Given the description of an element on the screen output the (x, y) to click on. 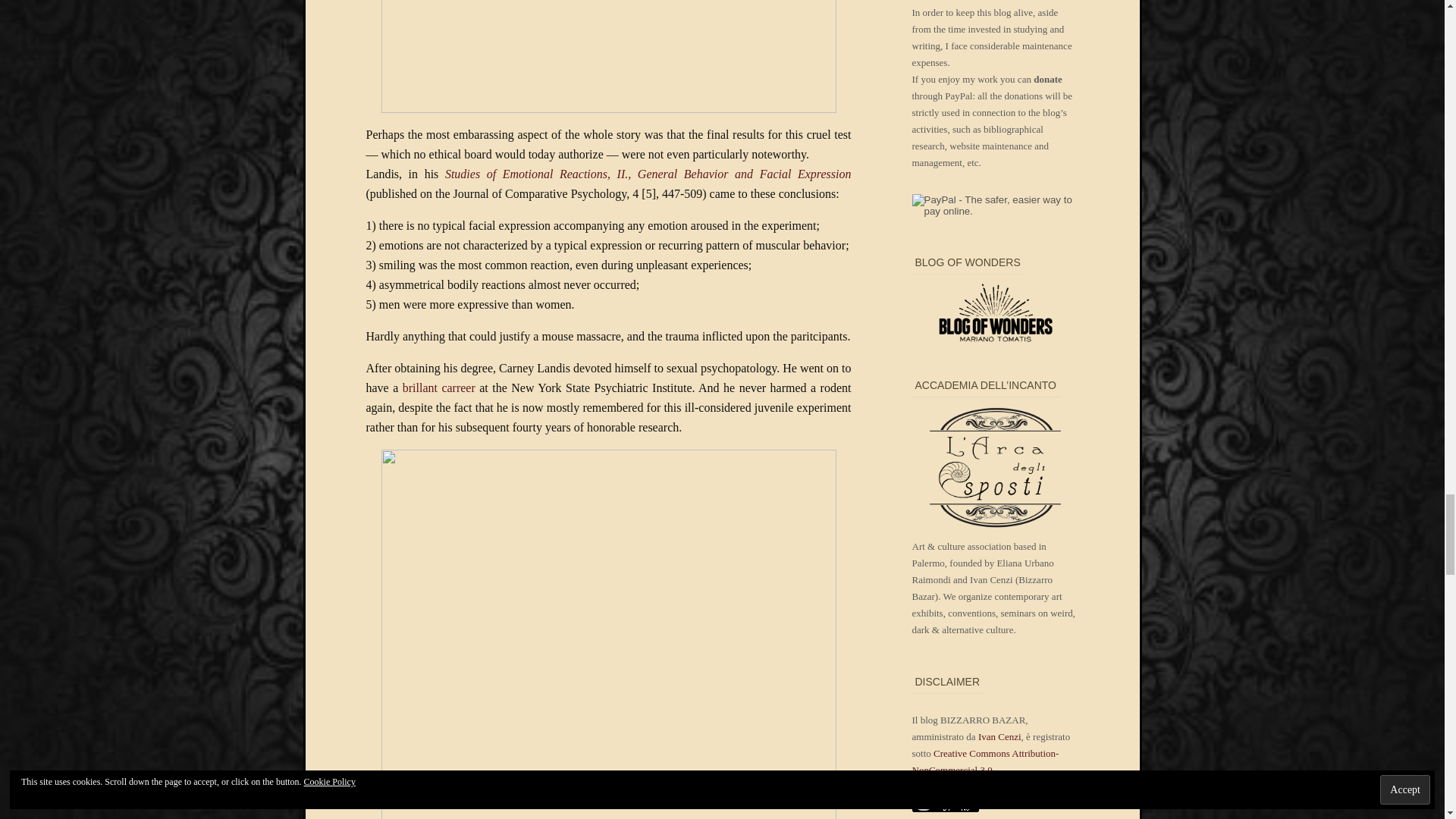
brillant carreer (439, 387)
BLOG OF WONDERS (994, 325)
